Given the description of an element on the screen output the (x, y) to click on. 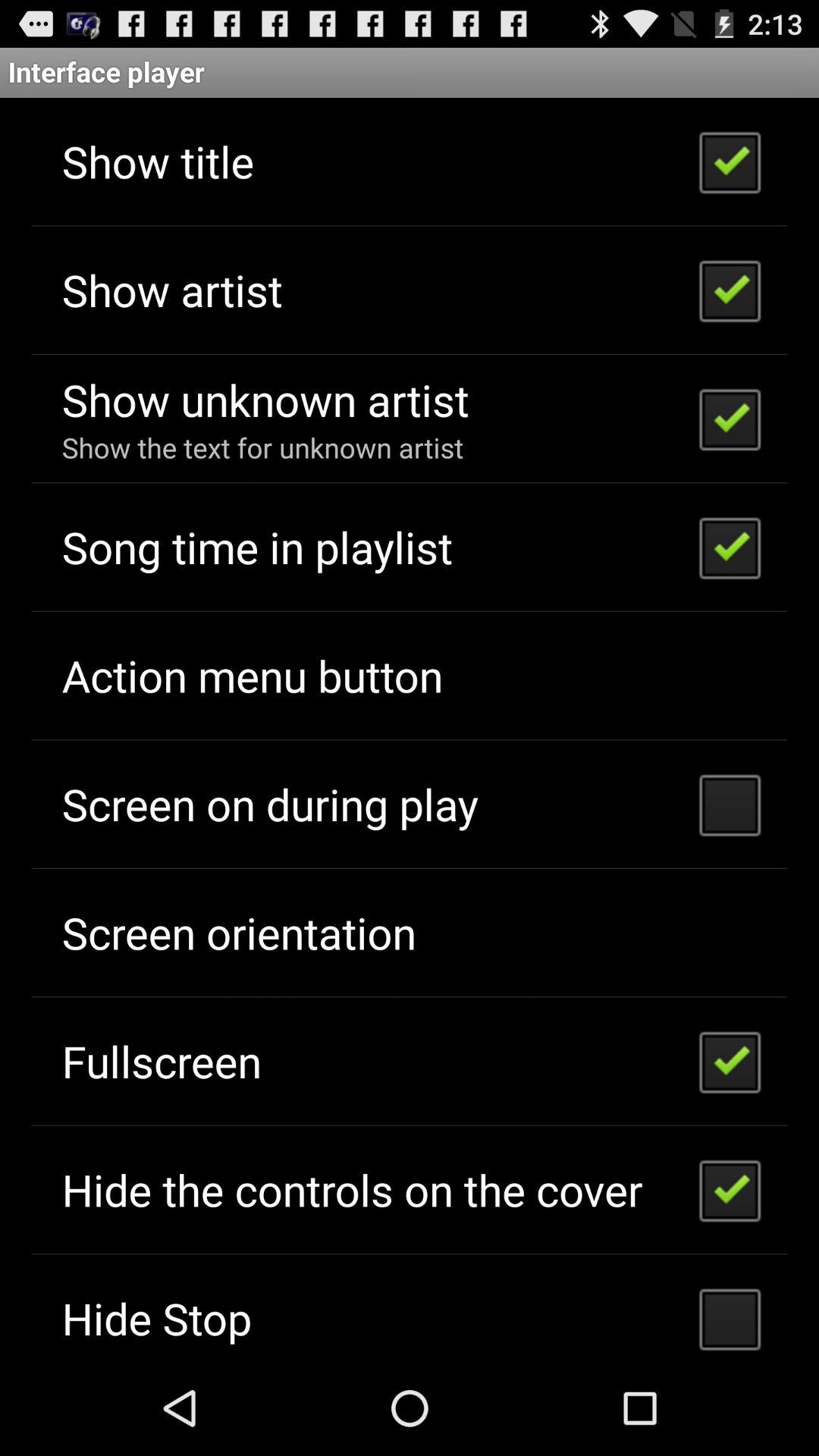
tap the app above fullscreen icon (238, 932)
